Given the description of an element on the screen output the (x, y) to click on. 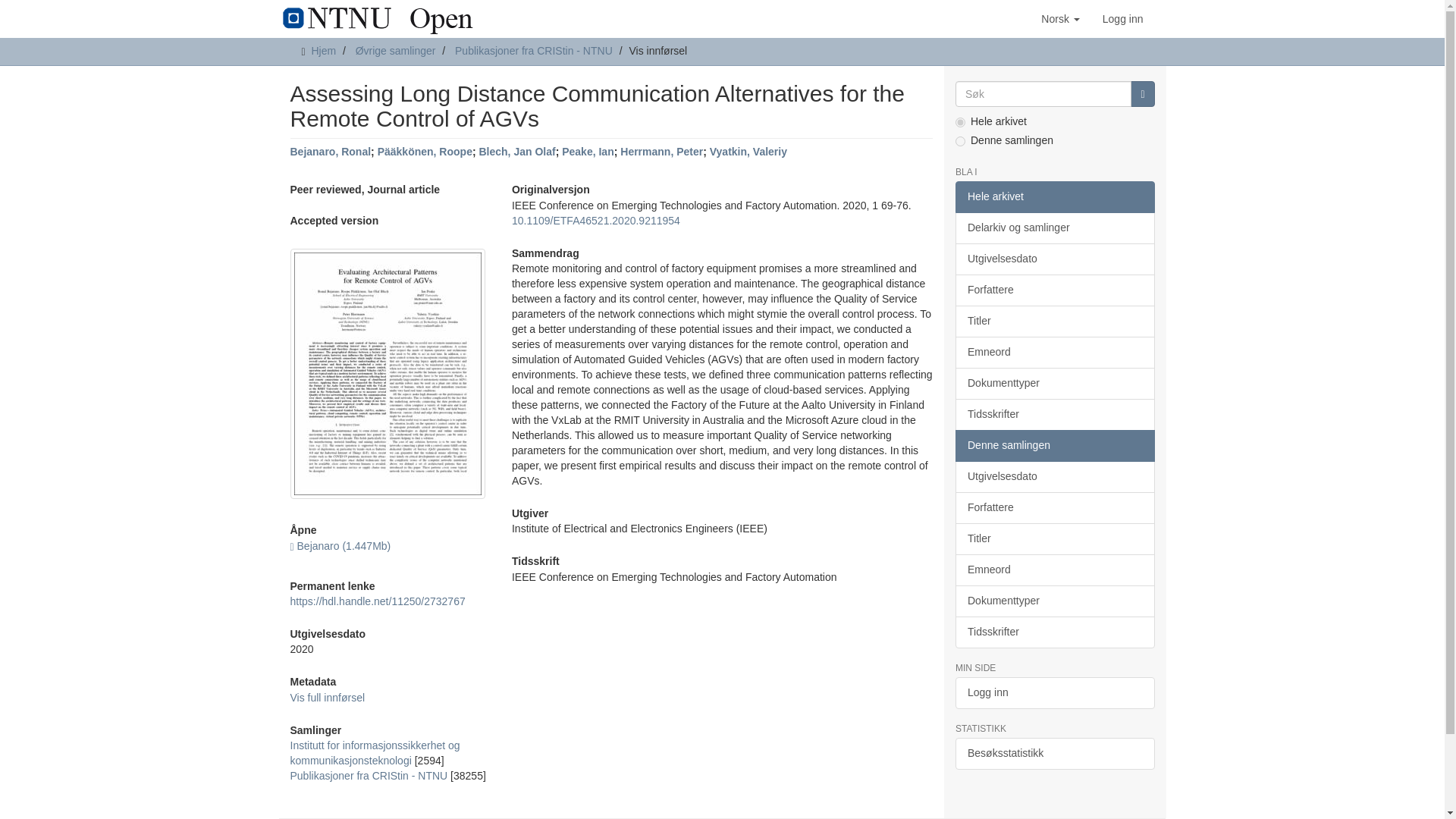
Logg inn (1122, 18)
Publikasjoner fra CRIStin - NTNU (533, 50)
Bejanaro, Ronal (330, 151)
Peake, Ian (588, 151)
Hjem (323, 50)
Blech, Jan Olaf (516, 151)
Vyatkin, Valeriy (748, 151)
Publikasjoner fra CRIStin - NTNU (367, 775)
Hele arkivet (1054, 196)
Norsk  (1059, 18)
